Given the description of an element on the screen output the (x, y) to click on. 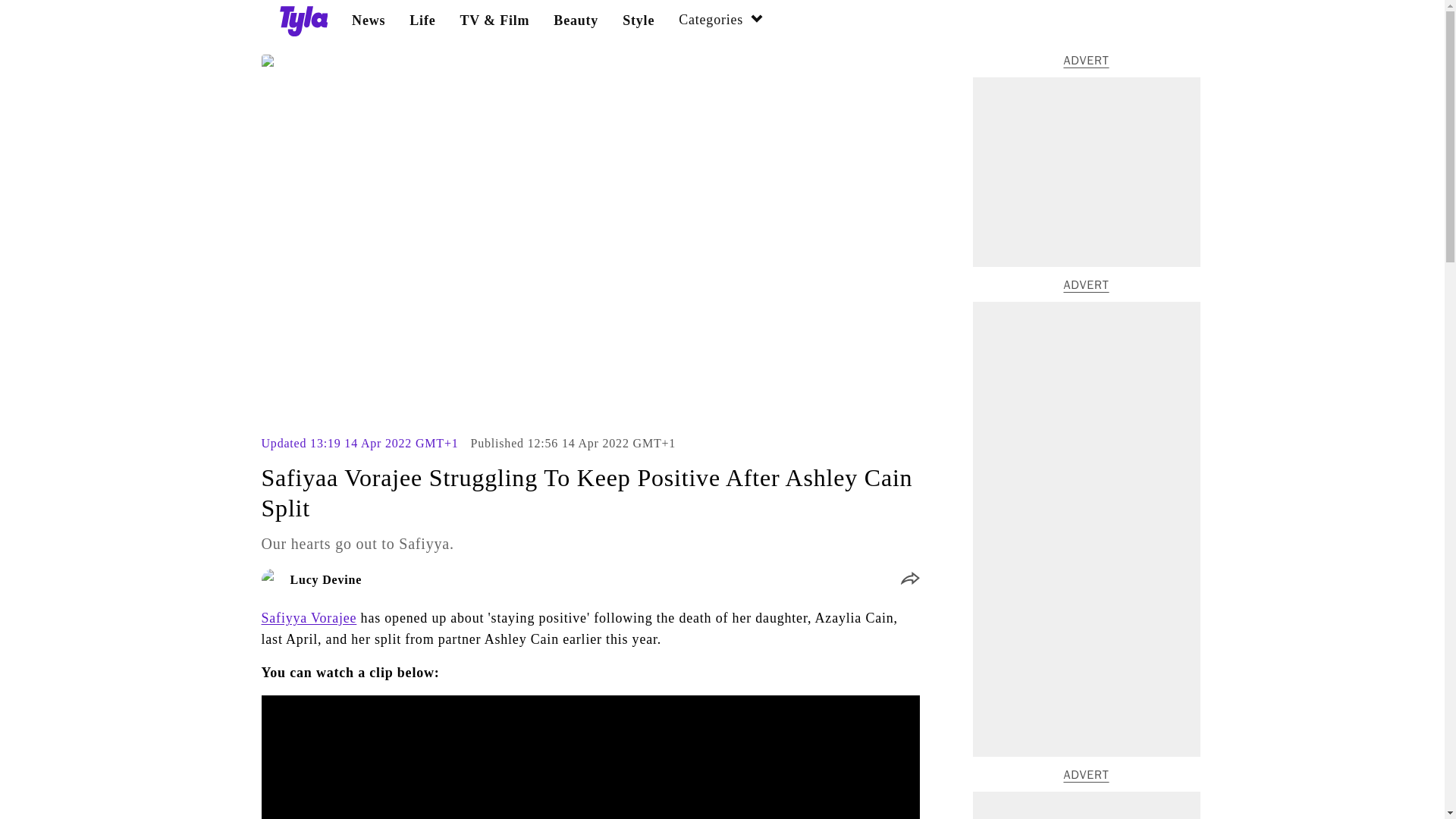
Categories (721, 21)
Beauty (575, 20)
